Given the description of an element on the screen output the (x, y) to click on. 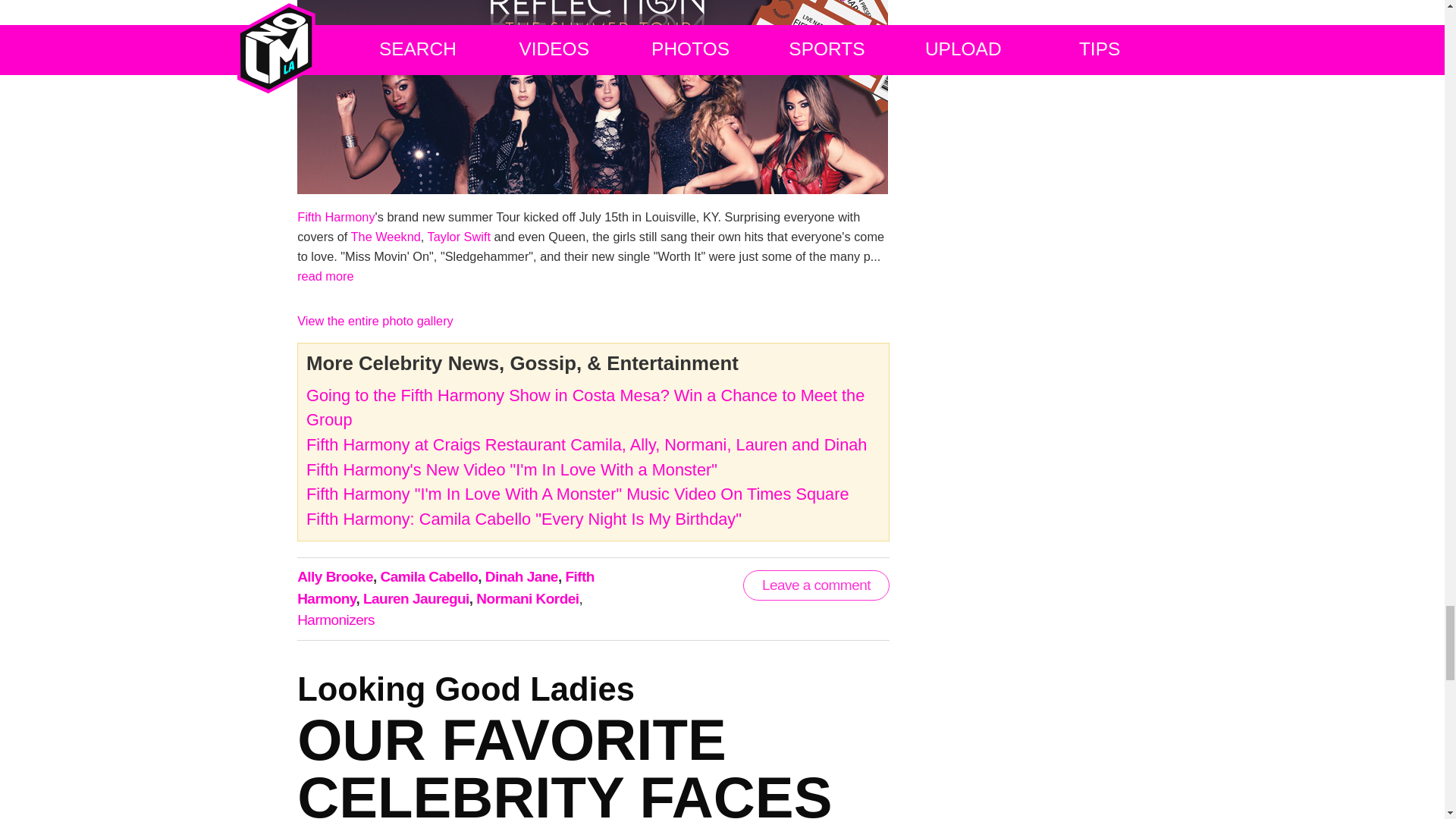
The Weeknd (385, 236)
Fifth Harmony (335, 216)
